Given the description of an element on the screen output the (x, y) to click on. 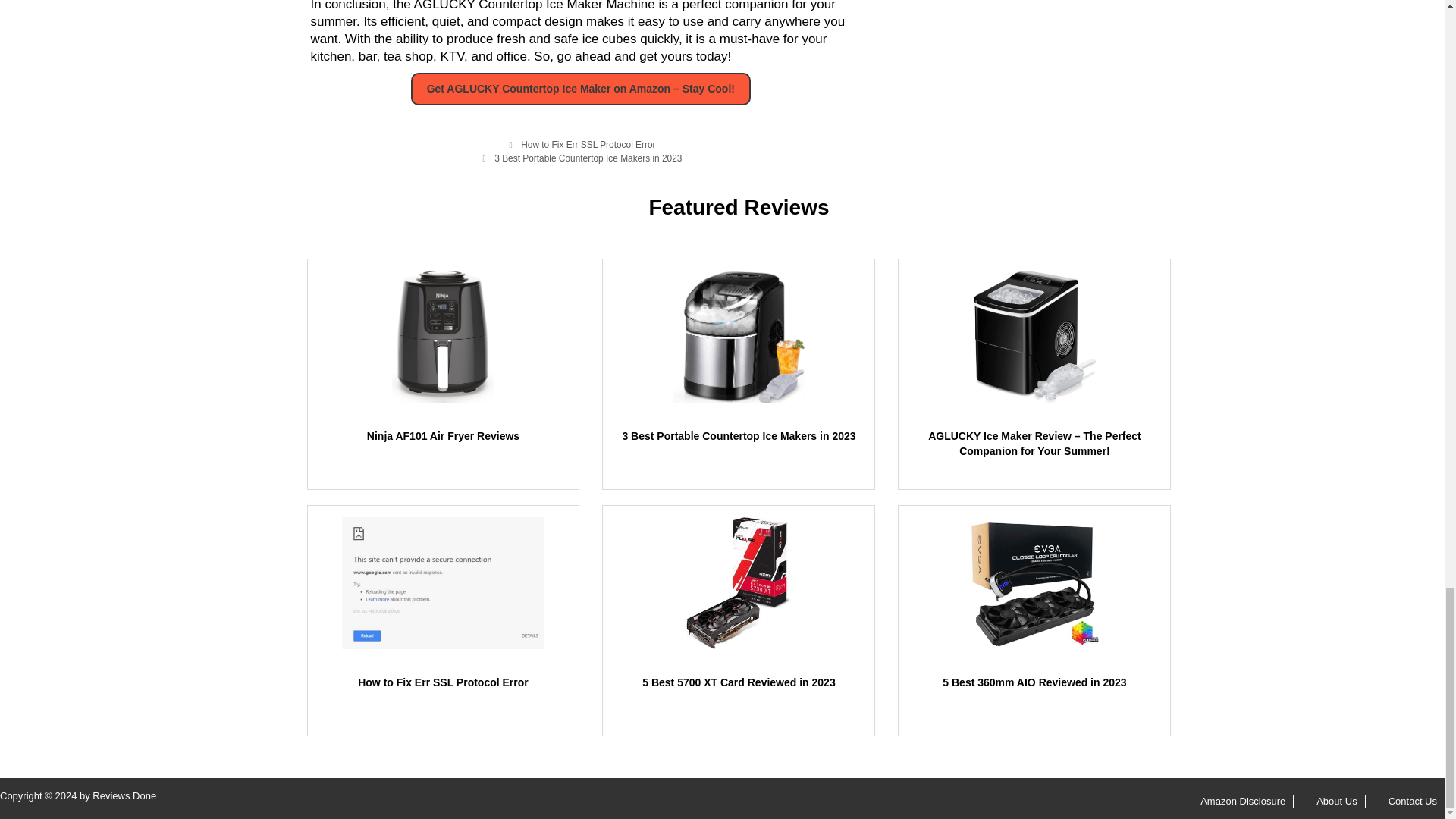
3 Best Portable Countertop Ice Makers in 2023 (738, 435)
Ninja AF101 Air Fryer Reviews (442, 435)
How to Fix Err SSL Protocol Error (443, 682)
3 Best Portable Countertop Ice Makers in 2023 (588, 158)
5 Best 360mm AIO Reviewed in 2023 (1033, 682)
How to Fix Err SSL Protocol Error (588, 144)
5 Best 5700 XT Card Reviewed in 2023 (738, 682)
